Given the description of an element on the screen output the (x, y) to click on. 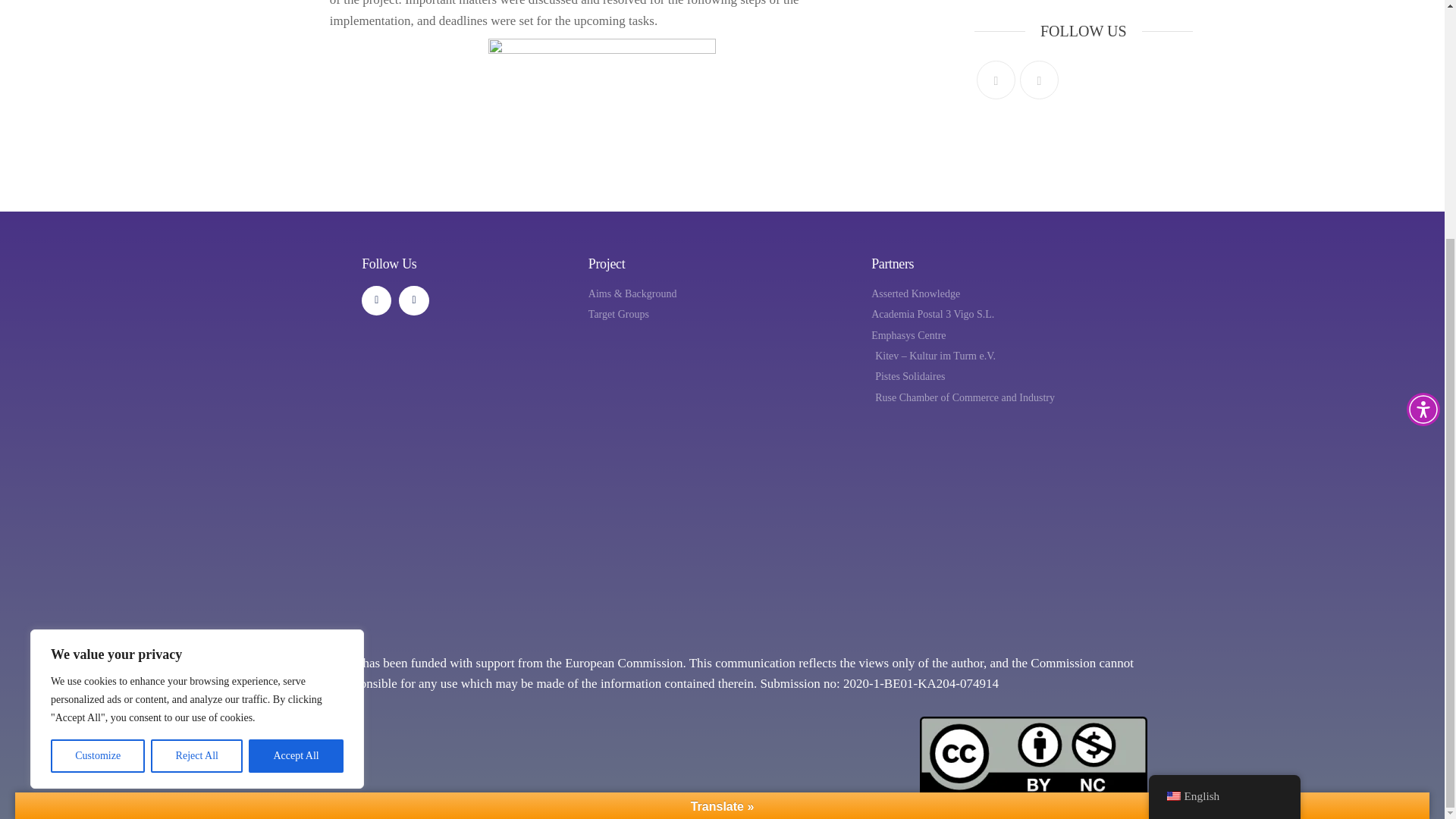
Accessibility Menu (1422, 80)
Accept All (295, 427)
Customize (97, 427)
Reject All (197, 427)
